Given the description of an element on the screen output the (x, y) to click on. 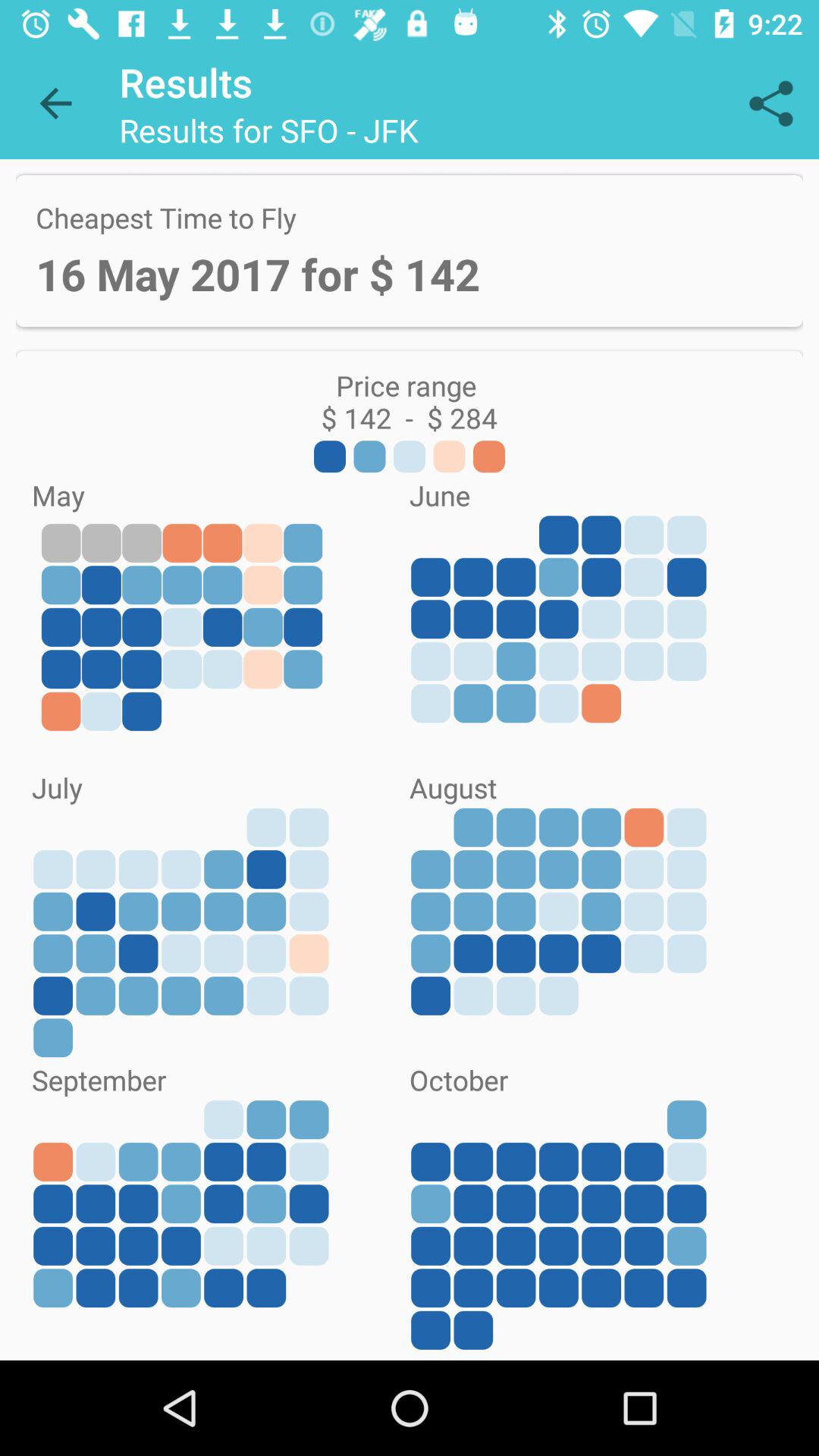
select item next to the results for sfo (771, 103)
